Given the description of an element on the screen output the (x, y) to click on. 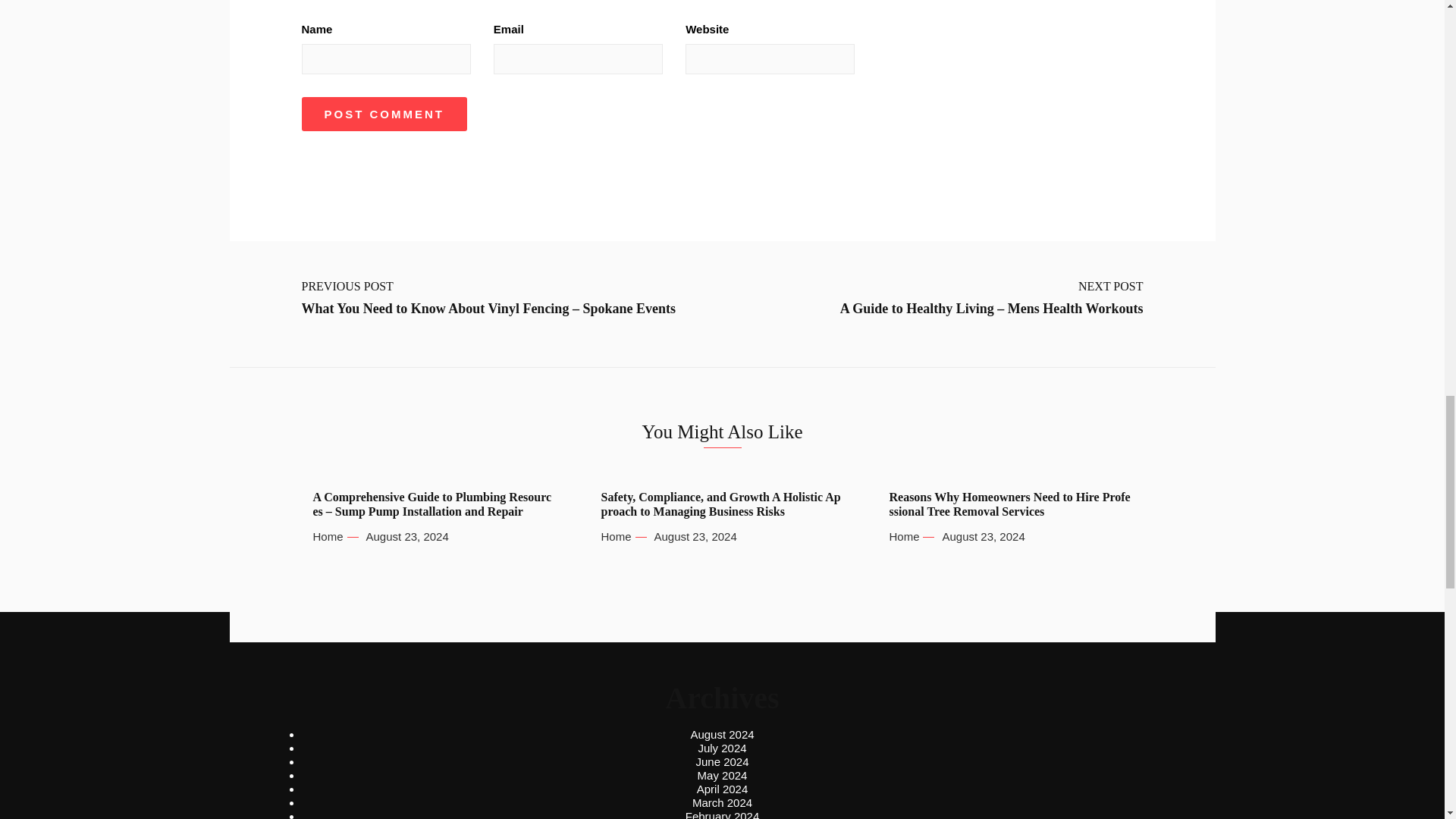
Post Comment (384, 114)
Home (327, 536)
Post Comment (384, 114)
